Given the description of an element on the screen output the (x, y) to click on. 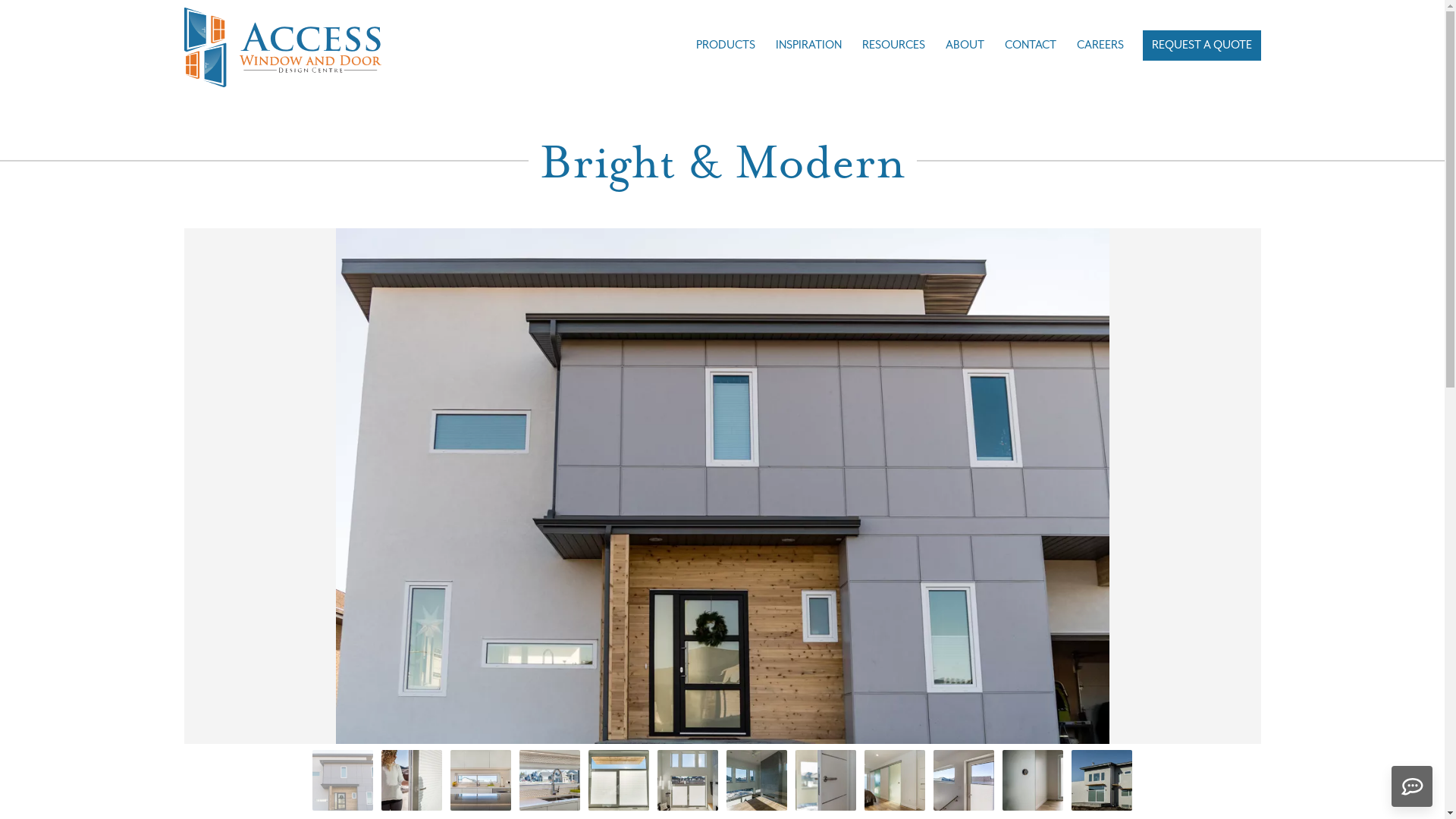
CAREERS Element type: text (1099, 45)
INSPIRATION Element type: text (807, 45)
REQUEST A QUOTE Element type: text (1201, 45)
PRODUCTS Element type: text (725, 45)
ABOUT Element type: text (963, 45)
CONTACT Element type: text (1029, 45)
RESOURCES Element type: text (892, 45)
